Given the description of an element on the screen output the (x, y) to click on. 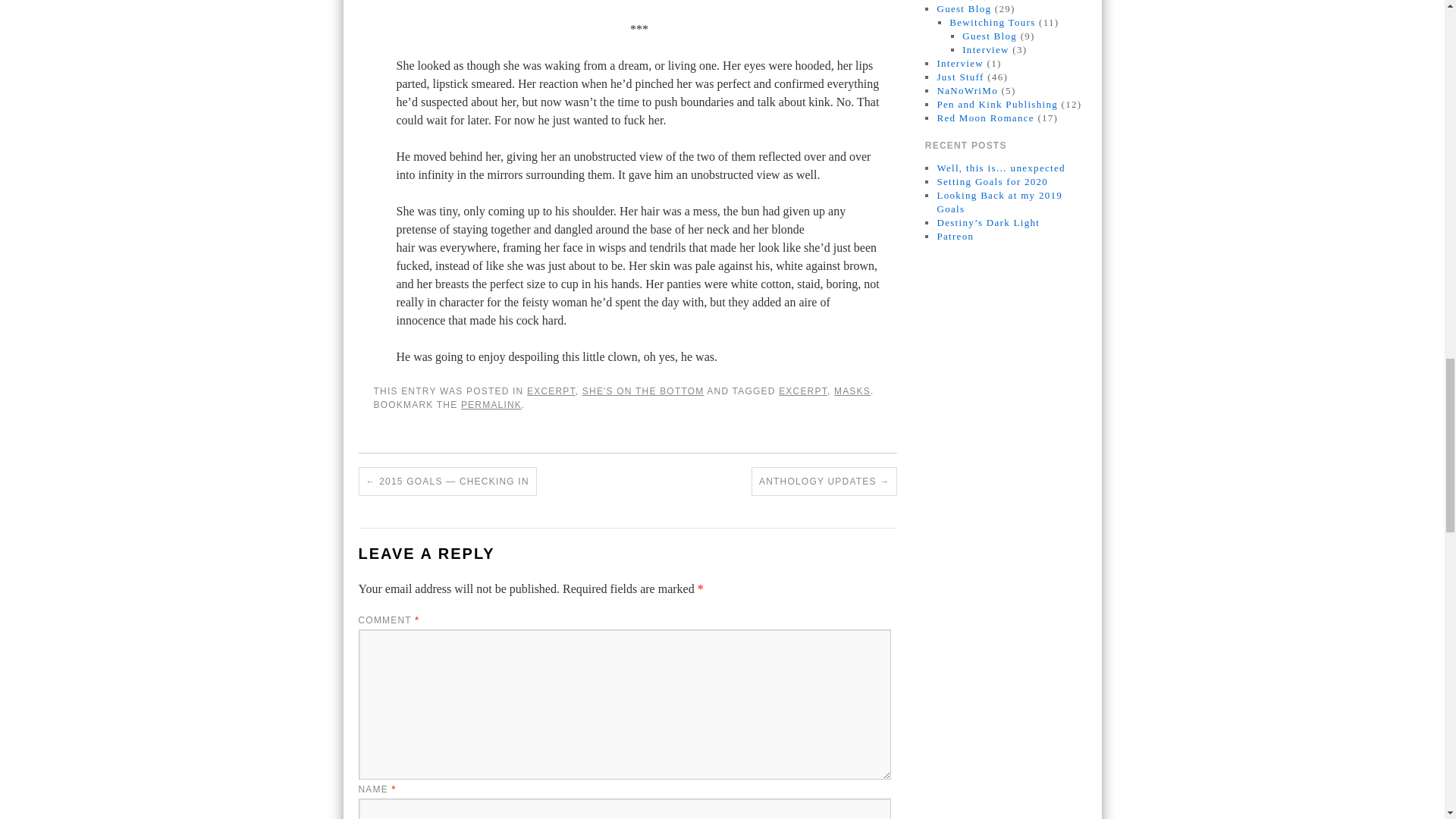
PERMALINK (491, 404)
EXCERPT (551, 390)
Permalink to Under Glass Excerpt: Masks (491, 404)
EXCERPT (802, 390)
SHE'S ON THE BOTTOM (643, 390)
MASKS (852, 390)
